Given the description of an element on the screen output the (x, y) to click on. 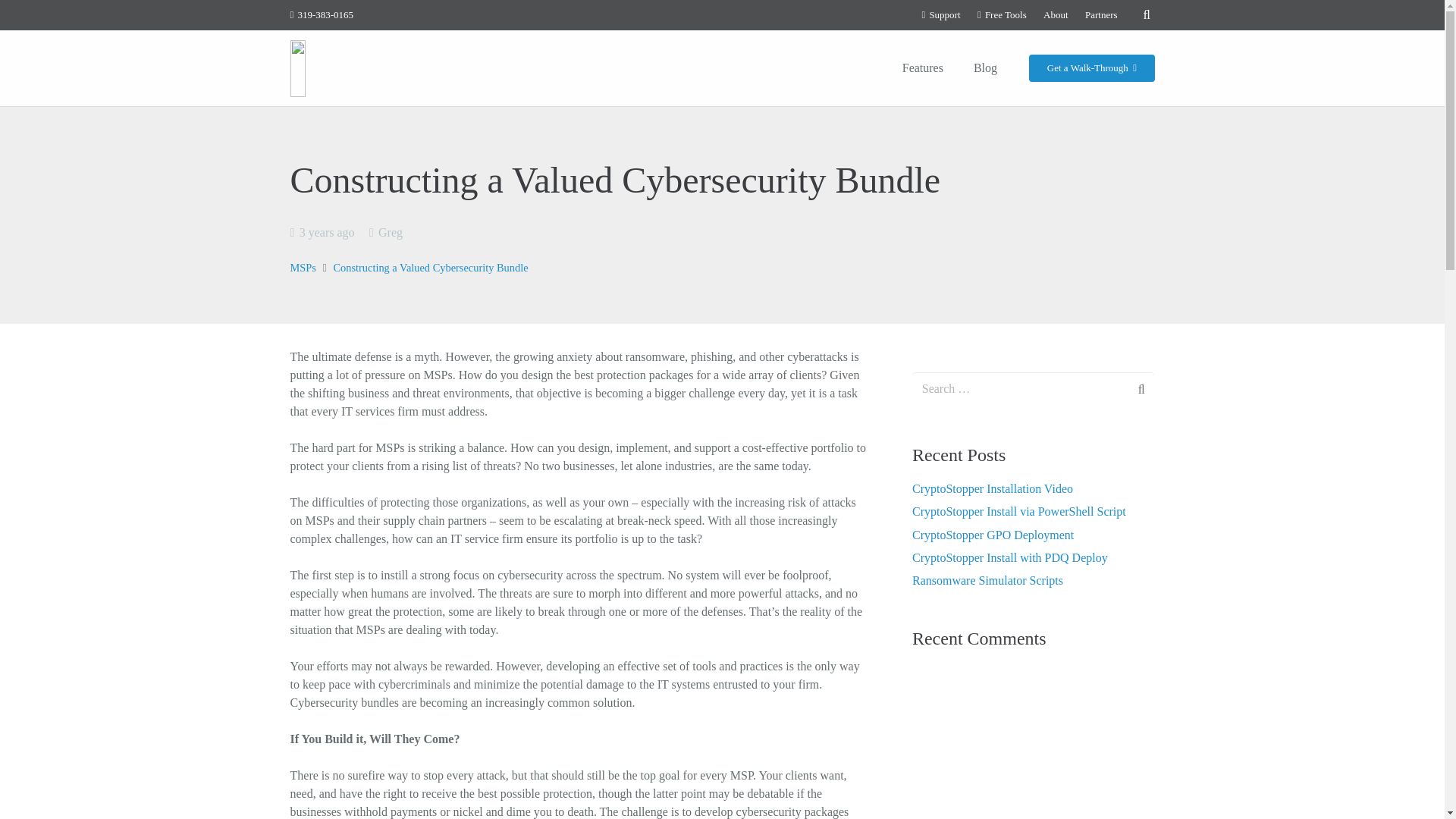
Blog (984, 67)
CryptoStopper Install via PowerShell Script (1018, 511)
MSPs (302, 267)
Features (922, 67)
Free Tools (1001, 14)
About (1055, 14)
CryptoStopper Install with PDQ Deploy (1010, 557)
Constructing a Valued Cybersecurity Bundle (430, 267)
Search (1131, 389)
Partners (1101, 14)
